Given the description of an element on the screen output the (x, y) to click on. 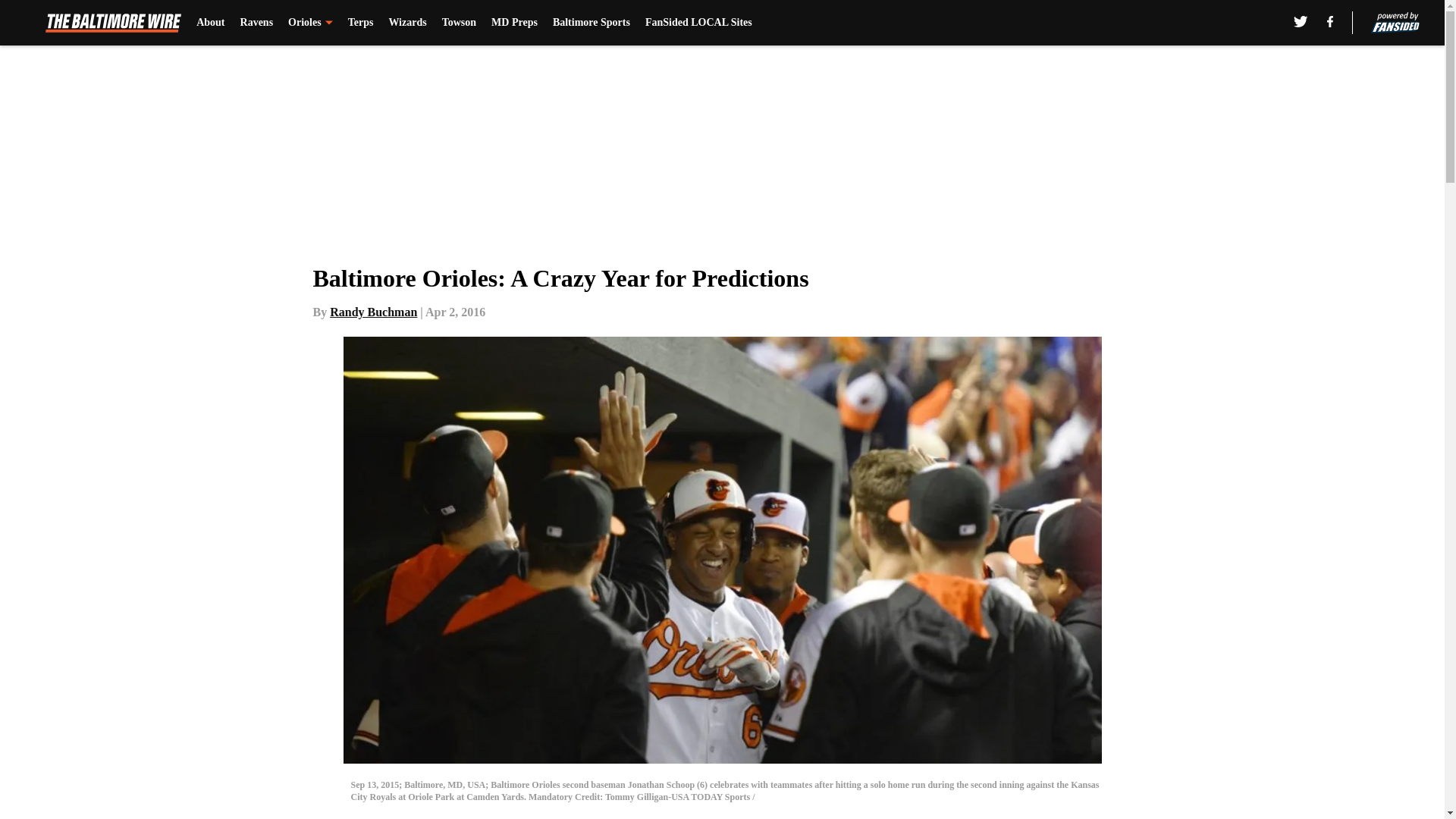
Towson (459, 22)
About (210, 22)
FanSided LOCAL Sites (698, 22)
Ravens (256, 22)
MD Preps (514, 22)
Randy Buchman (373, 311)
Terps (360, 22)
Wizards (407, 22)
Baltimore Sports (591, 22)
